Given the description of an element on the screen output the (x, y) to click on. 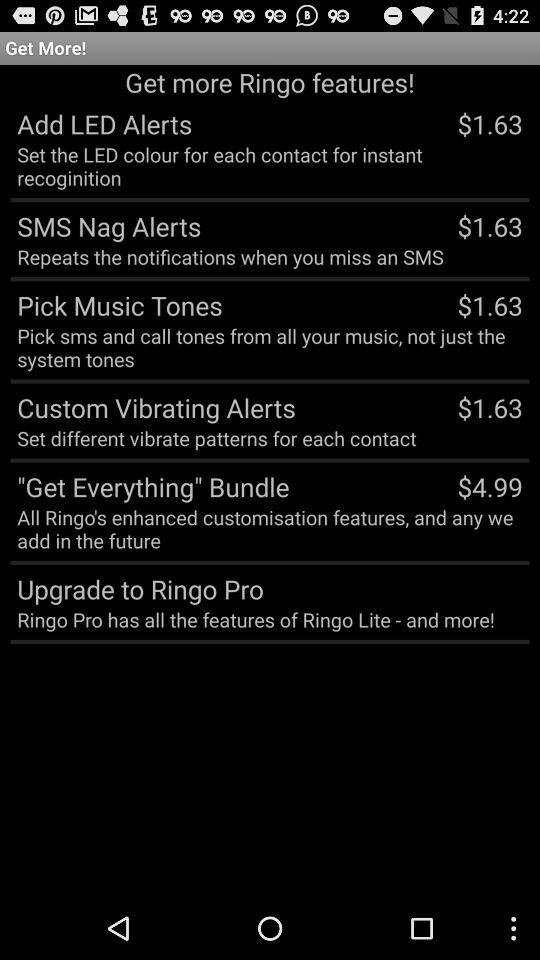
turn on the item to the left of $1.63 icon (105, 225)
